Given the description of an element on the screen output the (x, y) to click on. 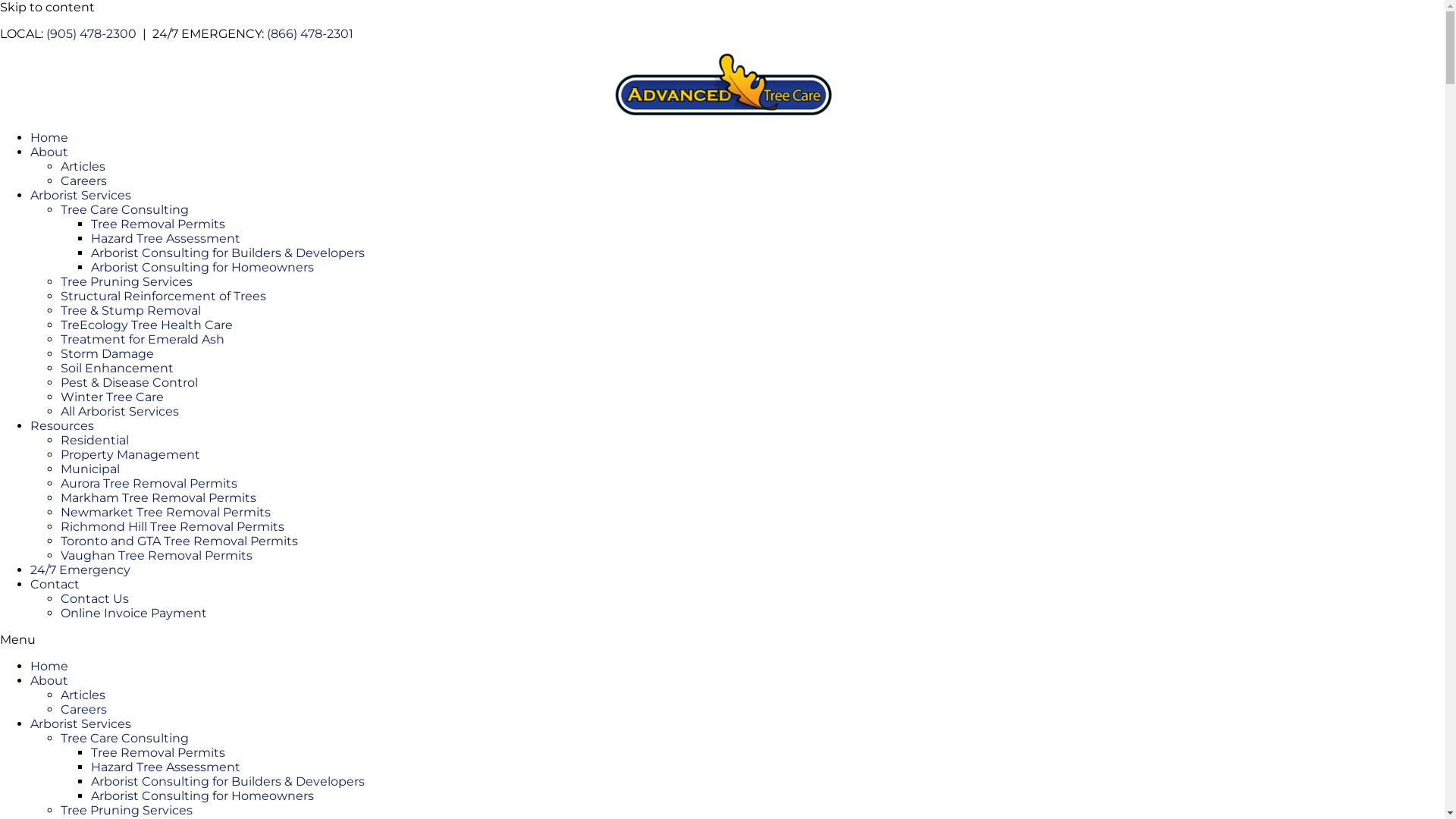
Newmarket Tree Removal Permits Element type: text (165, 512)
Storm Damage Element type: text (106, 353)
Tree Pruning Services Element type: text (126, 810)
Richmond Hill Tree Removal Permits Element type: text (172, 526)
Arborist Consulting for Homeowners Element type: text (202, 267)
Tree Care Consulting Element type: text (124, 738)
Careers Element type: text (83, 180)
TreEcology Tree Health Care Element type: text (146, 324)
Pest & Disease Control Element type: text (128, 382)
Articles Element type: text (82, 694)
Structural Reinforcement of Trees Element type: text (163, 295)
About Element type: text (49, 151)
Tree Removal Permits Element type: text (158, 752)
Tree Pruning Services Element type: text (126, 281)
Property Management Element type: text (130, 454)
Tree Removal Permits Element type: text (158, 223)
(905) 478-2300  Element type: text (92, 33)
Arborist Consulting for Builders & Developers Element type: text (227, 252)
Winter Tree Care Element type: text (111, 396)
Soil Enhancement Element type: text (116, 367)
Markham Tree Removal Permits Element type: text (158, 497)
(866) 478-2301 Element type: text (309, 33)
Treatment for Emerald Ash Element type: text (142, 339)
Arborist Consulting for Homeowners Element type: text (202, 795)
About Element type: text (49, 680)
Hazard Tree Assessment Element type: text (165, 766)
Vaughan Tree Removal Permits Element type: text (156, 555)
Resources Element type: text (62, 425)
Arborist Services Element type: text (80, 195)
Contact Us Element type: text (94, 598)
Municipal Element type: text (89, 468)
24/7 Emergency Element type: text (80, 569)
Tree Care Consulting Element type: text (124, 209)
Toronto and GTA Tree Removal Permits Element type: text (179, 540)
Tree & Stump Removal Element type: text (130, 310)
Residential Element type: text (94, 440)
Careers Element type: text (83, 709)
Contact Element type: text (54, 584)
Online Invoice Payment Element type: text (133, 612)
Aurora Tree Removal Permits Element type: text (148, 483)
Arborist Services Element type: text (80, 723)
Skip to content Element type: text (47, 7)
Home Element type: text (49, 137)
Hazard Tree Assessment Element type: text (165, 238)
Home Element type: text (49, 665)
Articles Element type: text (82, 166)
Arborist Consulting for Builders & Developers Element type: text (227, 781)
All Arborist Services Element type: text (119, 411)
